Given the description of an element on the screen output the (x, y) to click on. 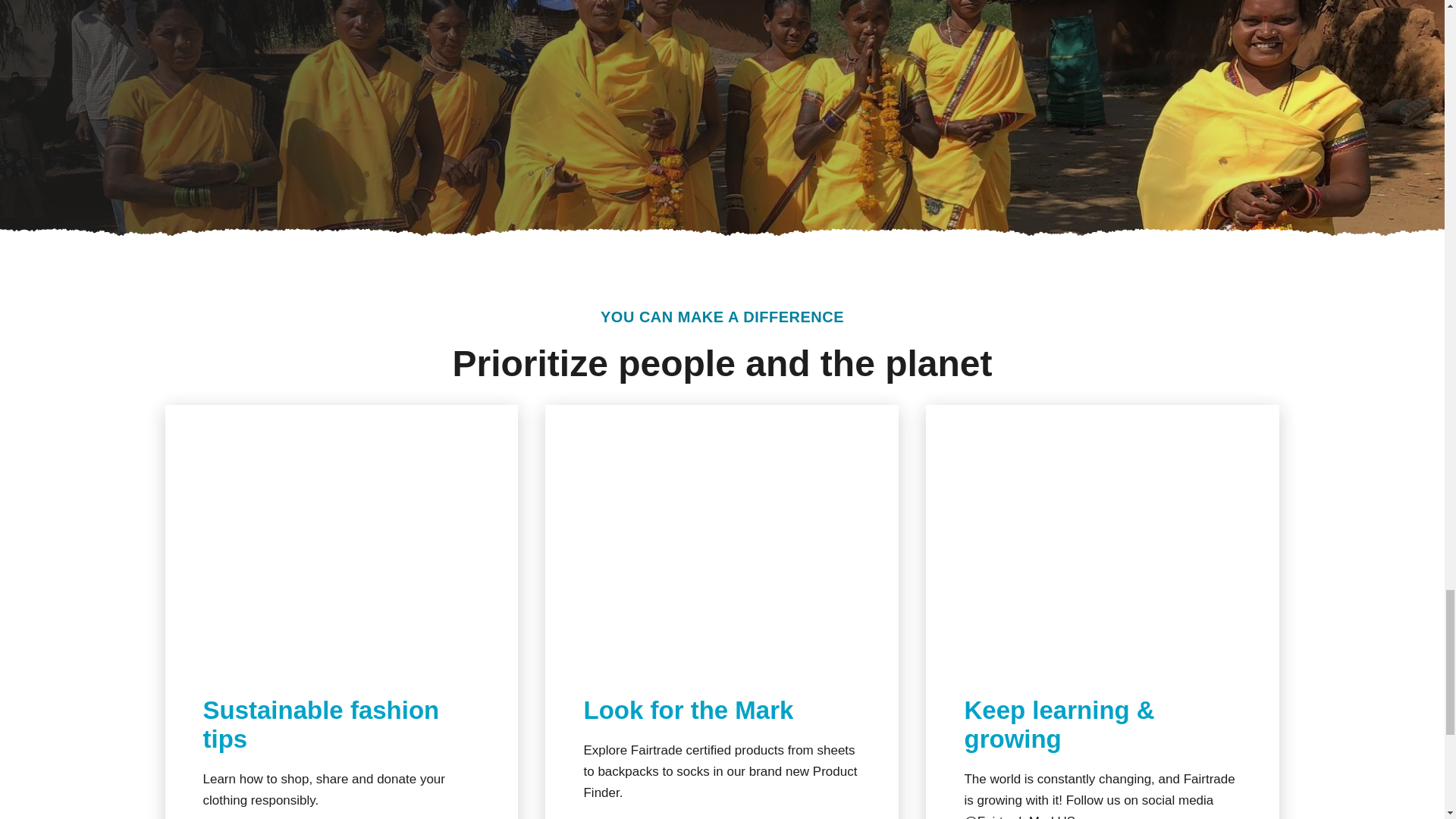
Look for the Mark (688, 710)
Sustainable fashion tips (321, 724)
